Given the description of an element on the screen output the (x, y) to click on. 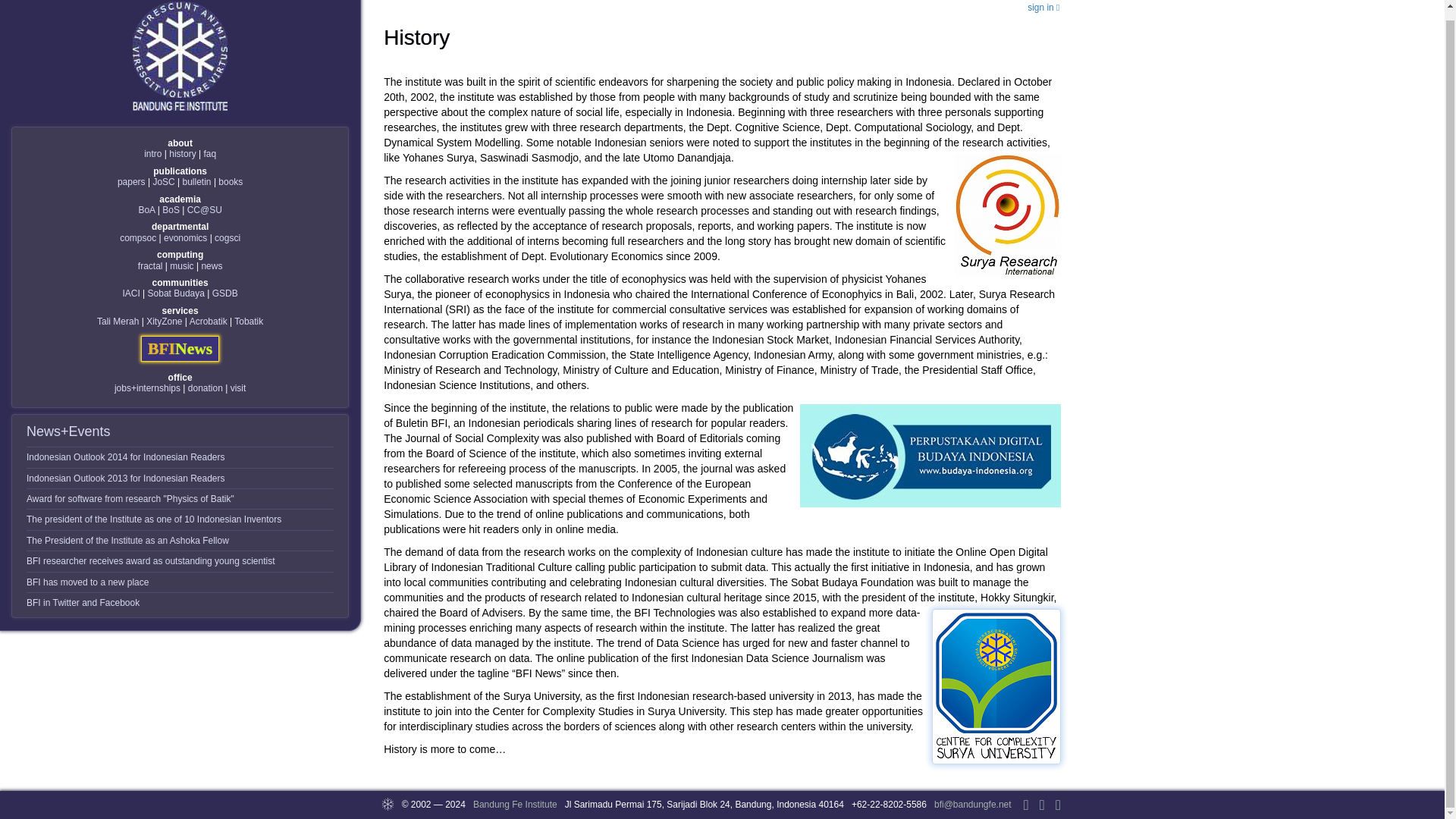
Tali Merah (117, 321)
Center for Complexities, Surya University (204, 209)
books (230, 181)
evonomics (184, 237)
history (181, 153)
BoS (170, 209)
BoA (146, 209)
XityZone (164, 321)
papers (131, 181)
Indonesian Outlook 2014 for Indonesian Readers (125, 457)
Acrobatik (208, 321)
See you on Youtube. (1058, 794)
Board of Science (170, 209)
news (211, 266)
faq (209, 153)
